Given the description of an element on the screen output the (x, y) to click on. 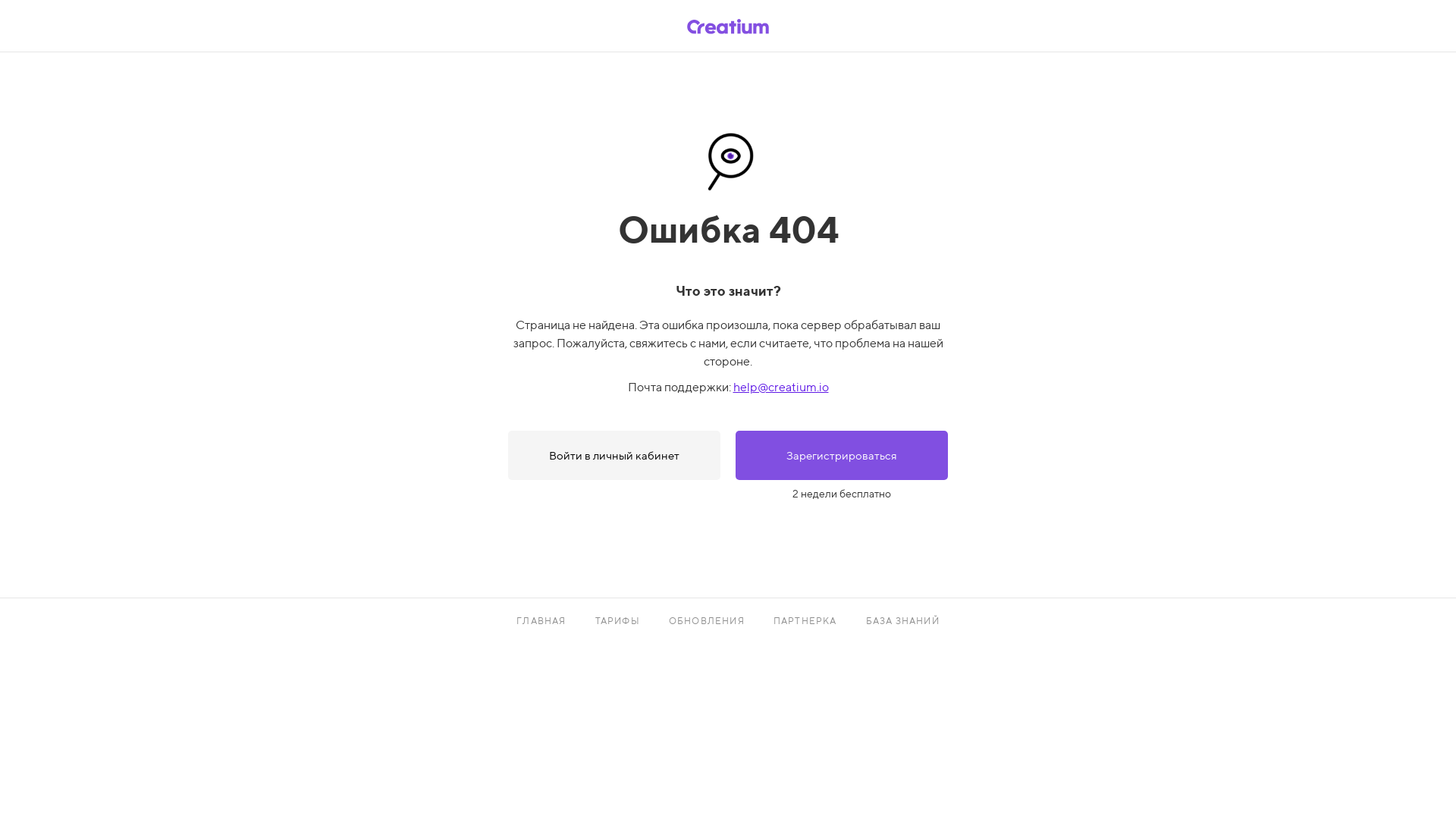
help@creatium.io Element type: text (780, 386)
